Given the description of an element on the screen output the (x, y) to click on. 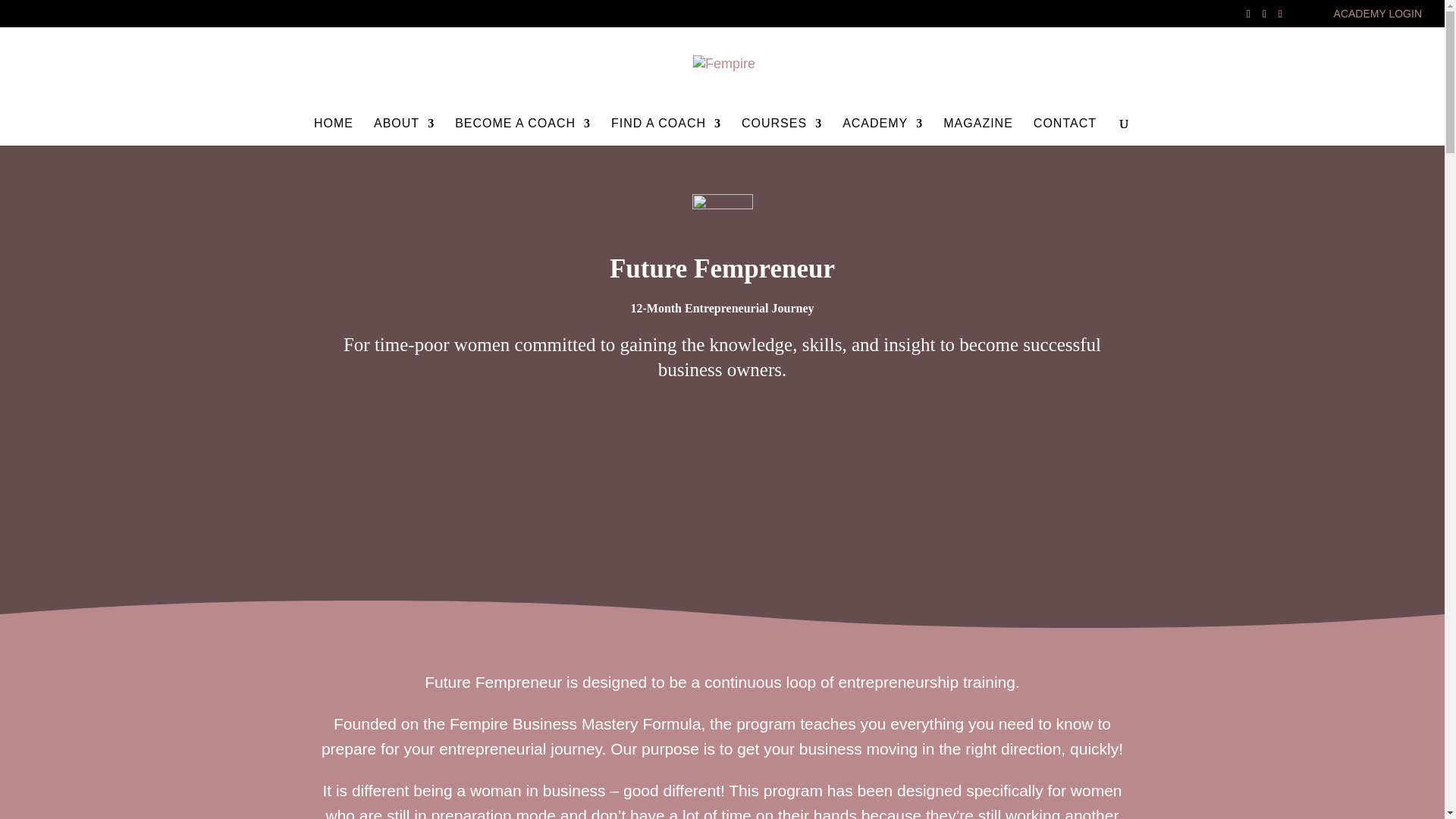
BECOME A COACH (522, 131)
ABOUT (403, 131)
COURSES (781, 131)
ACADEMY LOGIN (1377, 16)
MAGAZINE (978, 131)
HOME (333, 131)
ACADEMY (883, 131)
CONTACT (1064, 131)
FIND A COACH (665, 131)
